Given the description of an element on the screen output the (x, y) to click on. 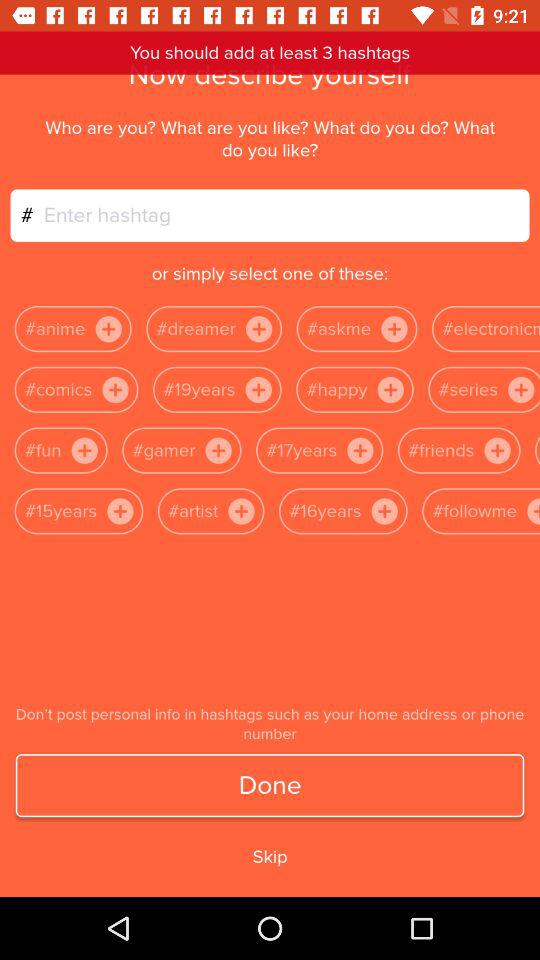
click on plus icon next to text 19 years (258, 389)
select the second  button from the bottom (384, 510)
click the  symbol which is to the rightside of askme (393, 329)
click on the text icon which is fourth row of second text (241, 510)
